Given the description of an element on the screen output the (x, y) to click on. 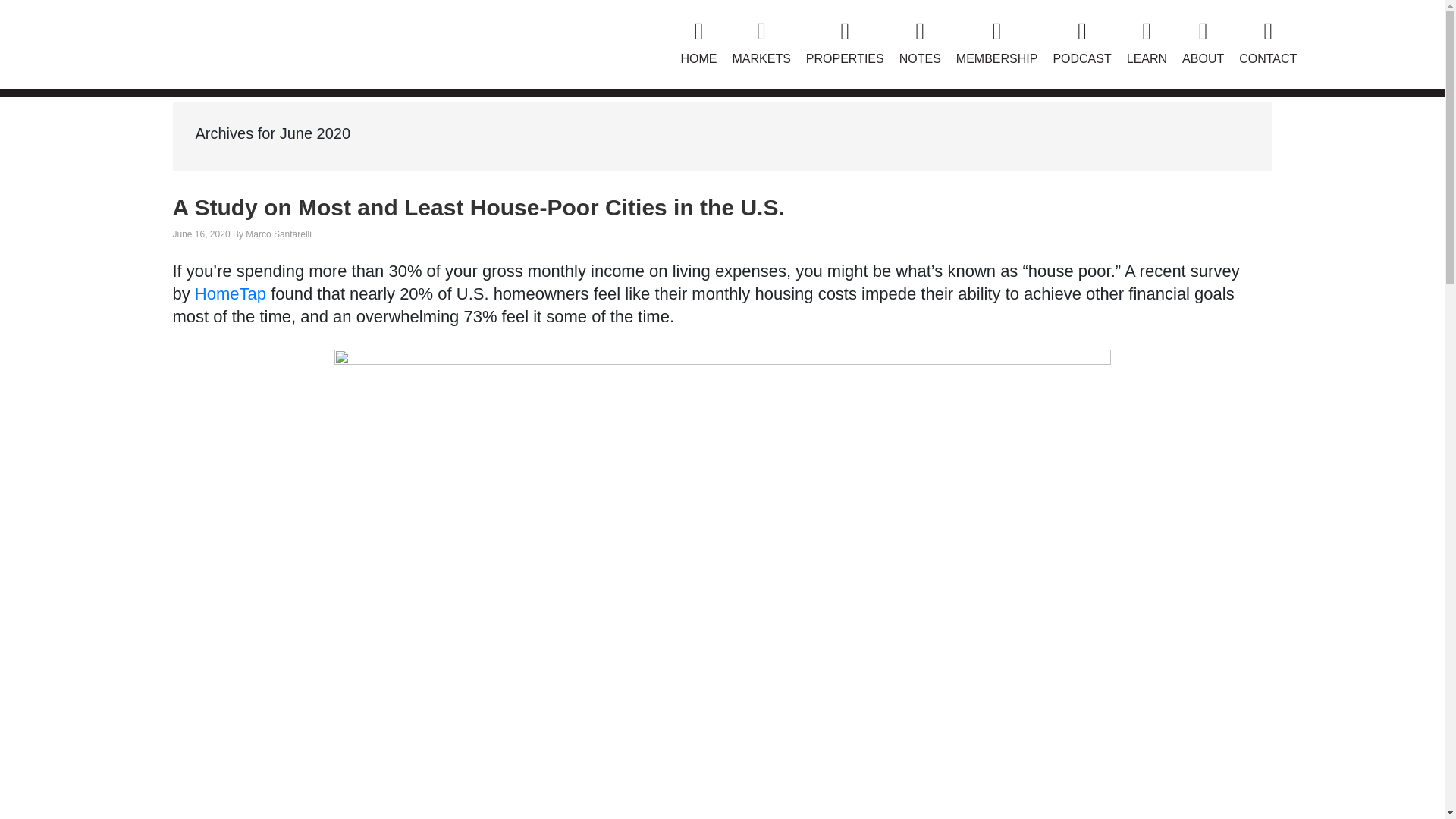
NORADA REAL ESTATE INVESTMENTS (278, 35)
PROPERTIES (844, 44)
HomeTap (230, 293)
Marco Santarelli (278, 234)
MEMBERSHIP (997, 44)
A Study on Most and Least House-Poor Cities in the U.S. (478, 207)
